Given the description of an element on the screen output the (x, y) to click on. 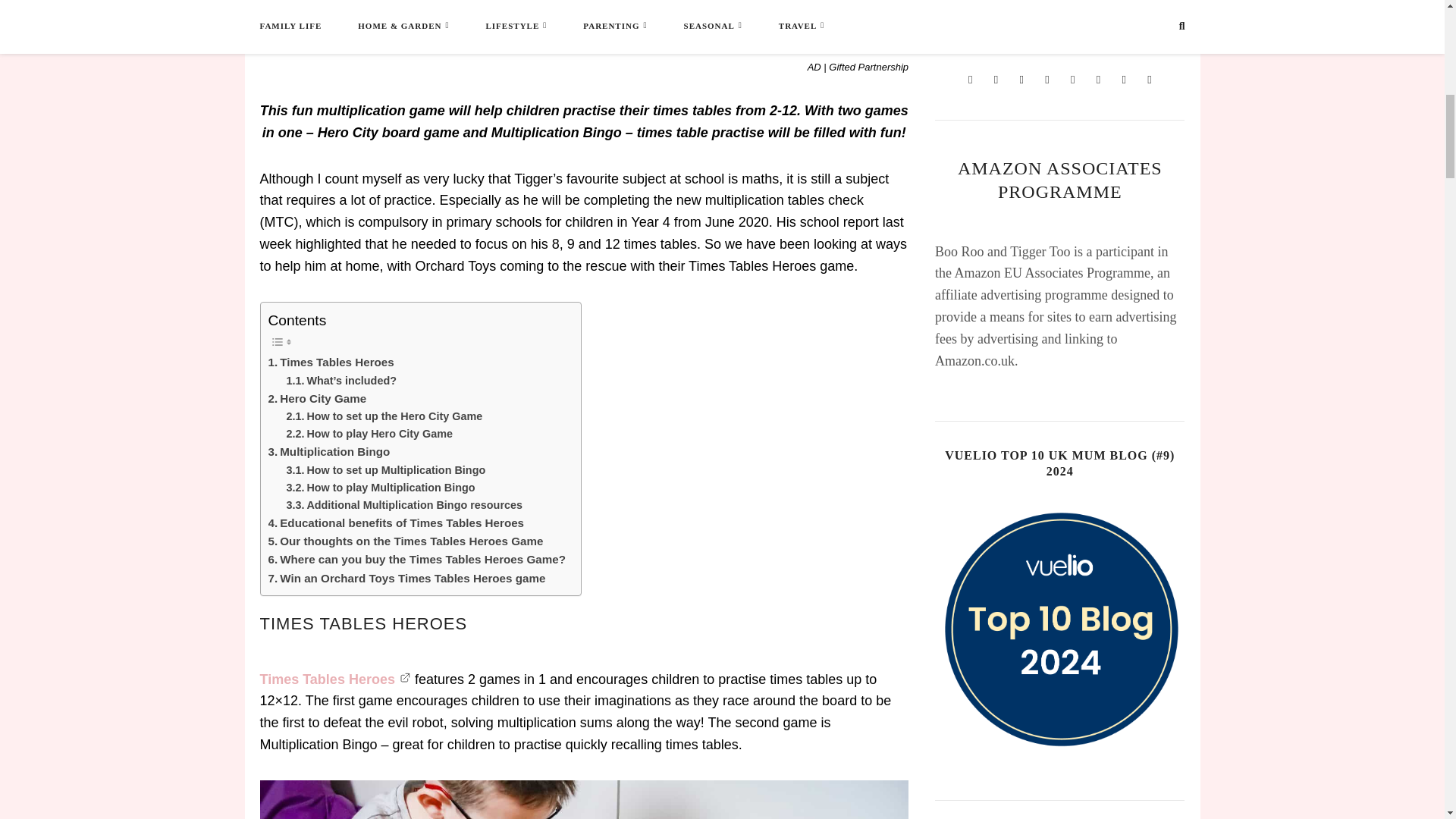
Times Tables Heroes (330, 361)
Save to Pinterest (760, 22)
Hero City Game (316, 398)
How to set up the Hero City Game (384, 416)
How to play Hero City Game (369, 434)
Multiplication Bingo (328, 452)
Additional Multiplication Bingo resources (404, 505)
How to play Multiplication Bingo (381, 487)
Share on Facebook (354, 22)
How to set up Multiplication Bingo (386, 470)
